Given the description of an element on the screen output the (x, y) to click on. 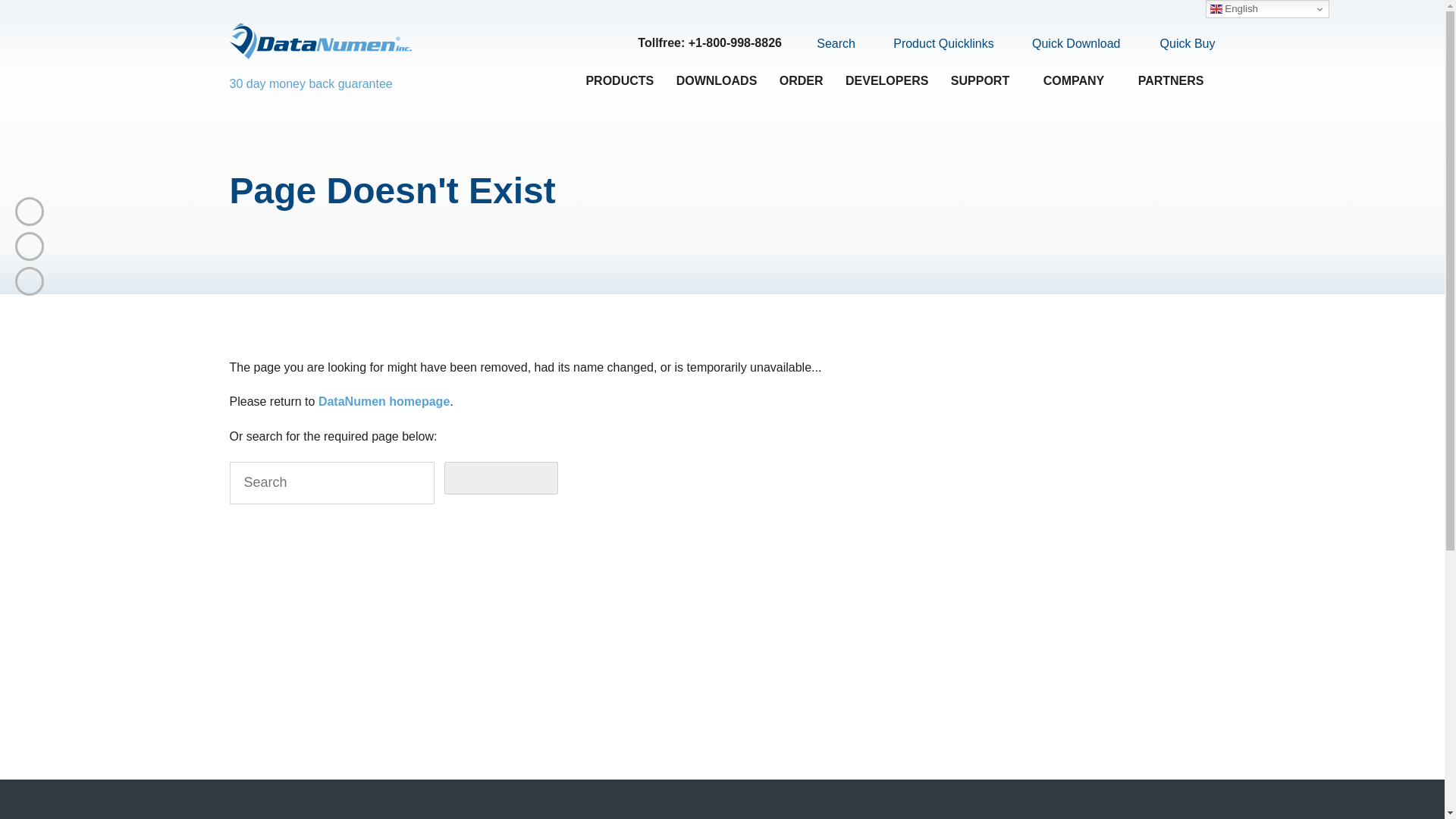
Search for: (330, 482)
Quick Download (1066, 44)
Product Quicklinks (934, 44)
Search (827, 43)
